Given the description of an element on the screen output the (x, y) to click on. 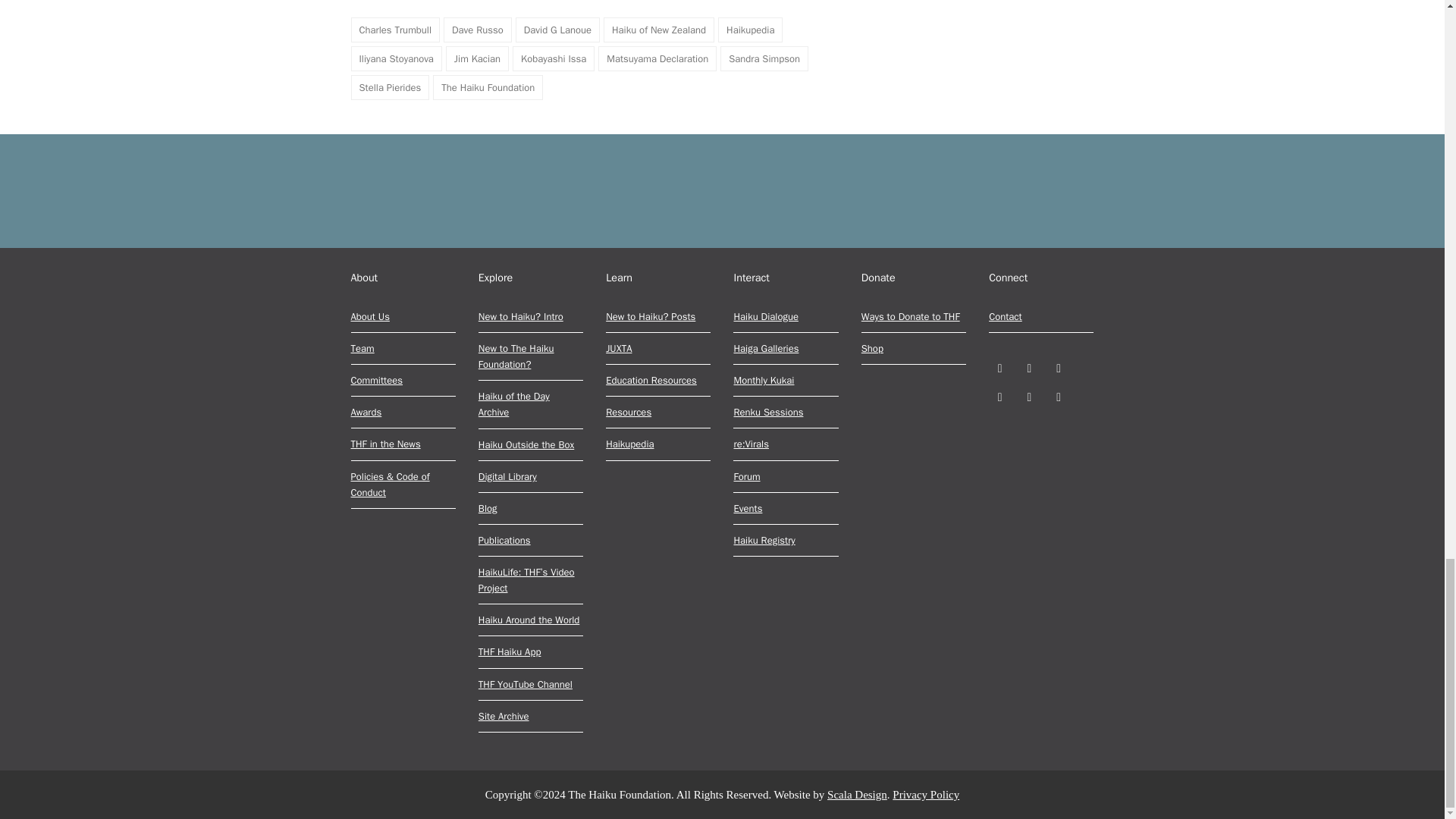
Facebook (1029, 368)
YouTube (1029, 397)
Tiktok (1059, 397)
Twitter (999, 368)
Instagram (1059, 368)
Pinterest (999, 397)
